Given the description of an element on the screen output the (x, y) to click on. 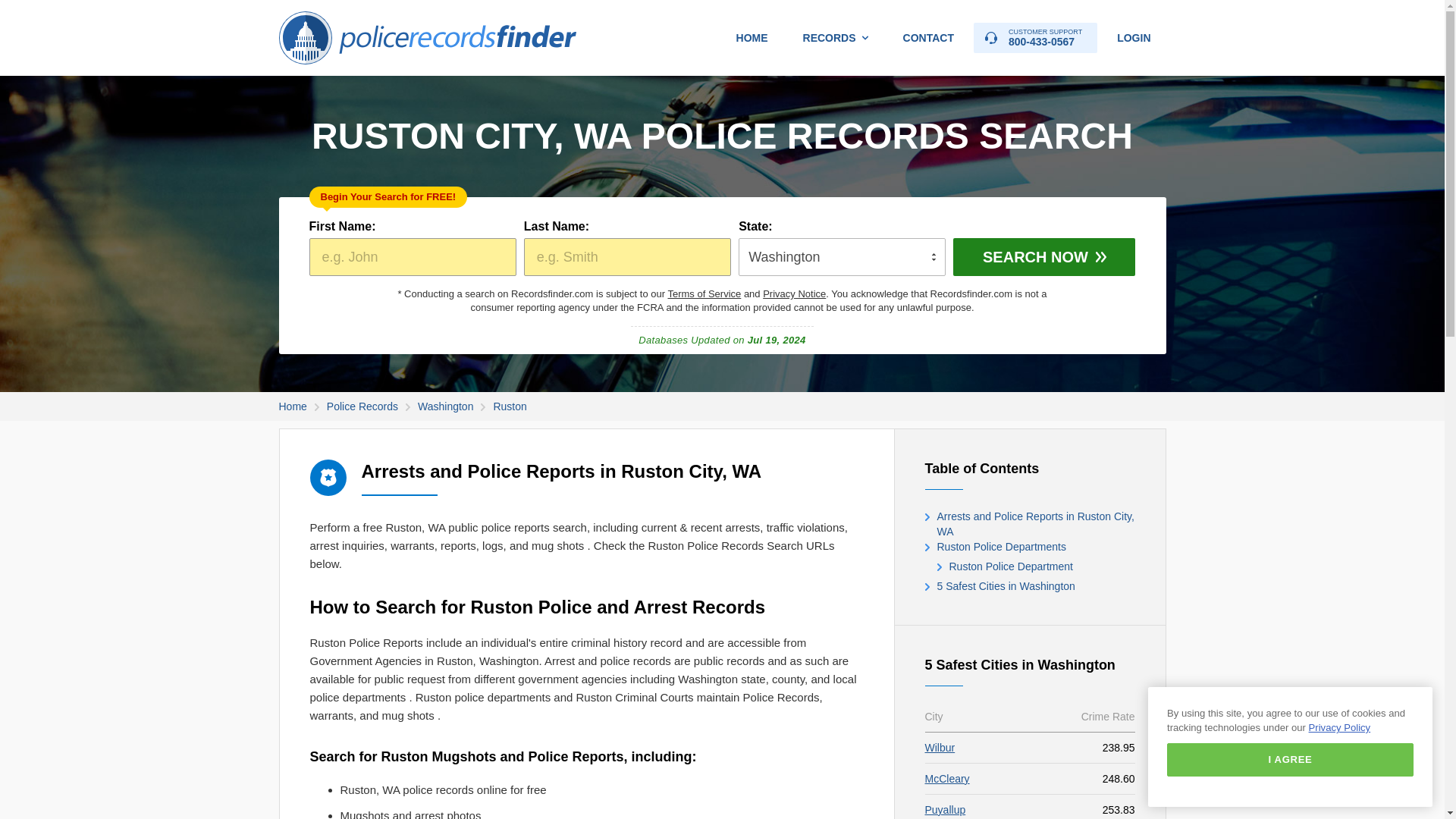
HOME (751, 37)
RECORDS (835, 37)
